Given the description of an element on the screen output the (x, y) to click on. 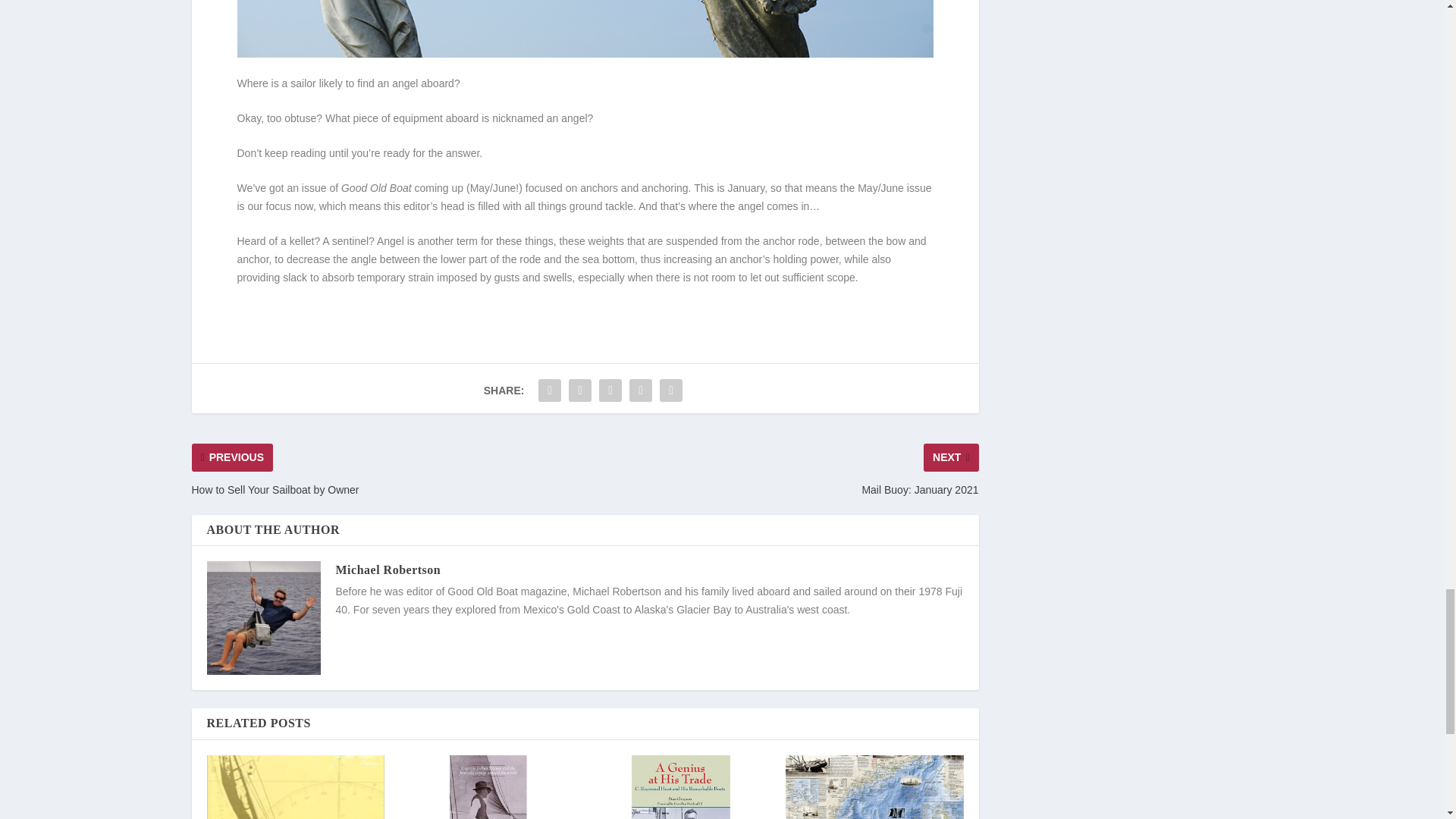
Share "News from the Helm: January 2021" via Twitter (579, 389)
The Solitude of the Open Sea: Book Review (295, 787)
Share "News from the Helm: January 2021" via Email (641, 389)
Share "News from the Helm: January 2021" via Pinterest (610, 389)
View all posts by Michael Robertson (387, 569)
Share "News from the Helm: January 2021" via Print (670, 389)
Share "News from the Helm: January 2021" via Facebook (549, 389)
